Given the description of an element on the screen output the (x, y) to click on. 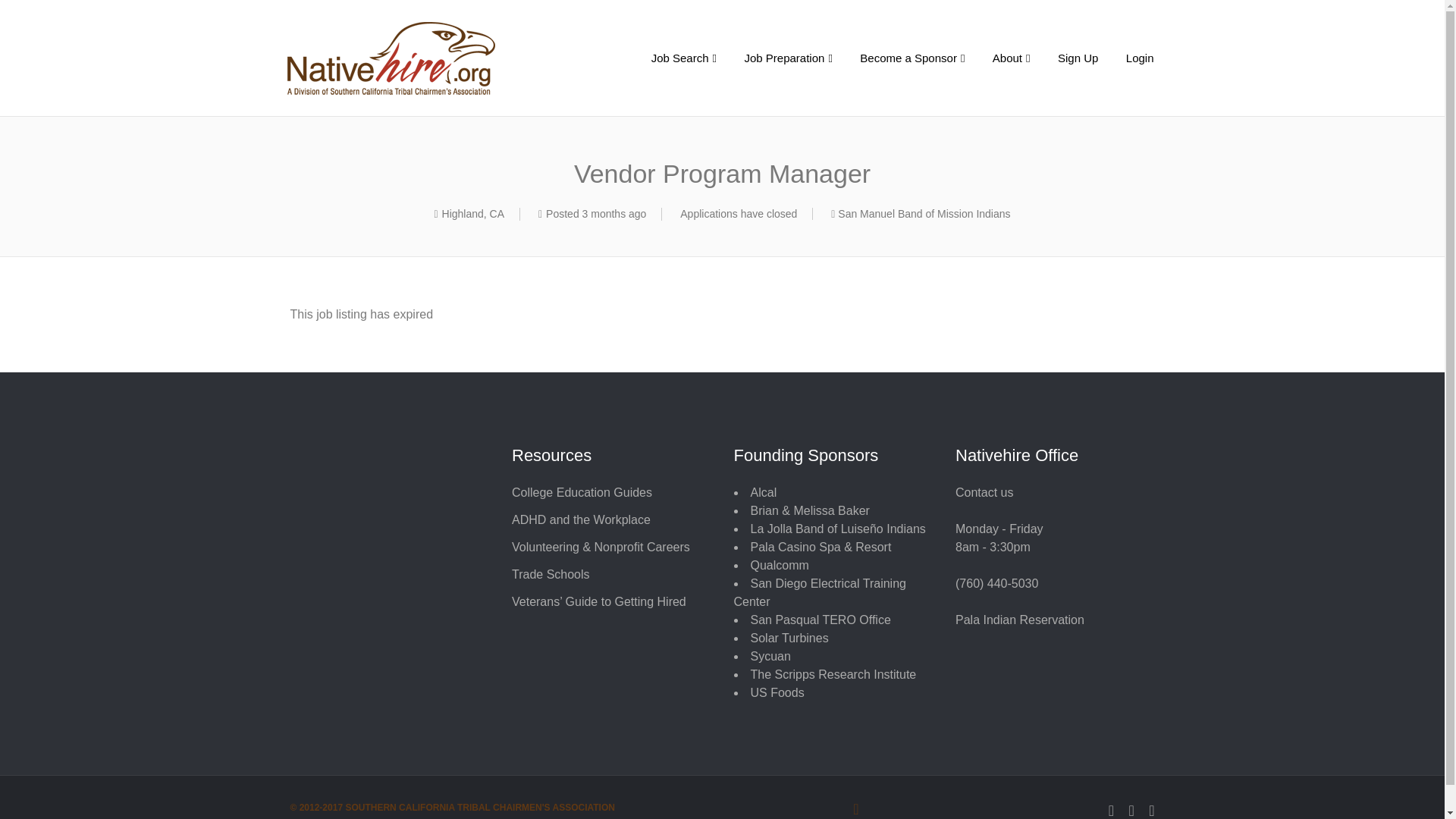
LinkedIn (1131, 808)
Become a Sponsor (911, 58)
Trade Schools (550, 574)
About (1010, 58)
Back to Top (721, 808)
Job Search (684, 58)
San Manuel Band of Mission Indians (924, 214)
Login (1139, 58)
NATIVEHIRE (423, 58)
Nativehire (423, 58)
Sign Up (1077, 58)
ADHD and the Workplace (581, 519)
Highland, CA (473, 214)
Job Preparation (788, 58)
Twitter (1151, 808)
